Given the description of an element on the screen output the (x, y) to click on. 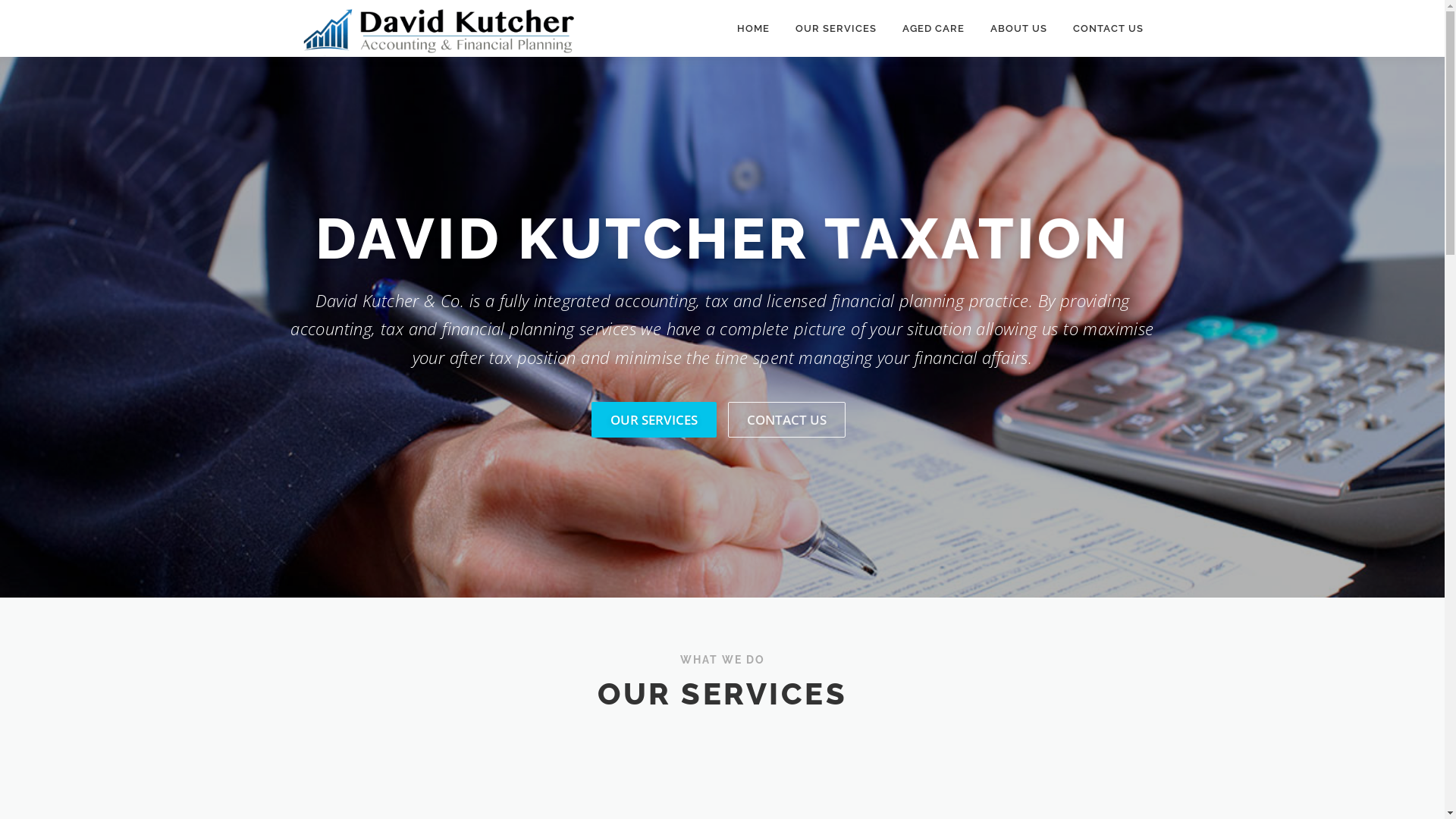
OUR SERVICES Element type: text (653, 419)
CONTACT US Element type: text (786, 419)
OUR SERVICES Element type: text (835, 28)
HOME Element type: text (752, 28)
AGED CARE Element type: text (932, 28)
ABOUT US Element type: text (1017, 28)
CONTACT US Element type: text (1101, 28)
